Given the description of an element on the screen output the (x, y) to click on. 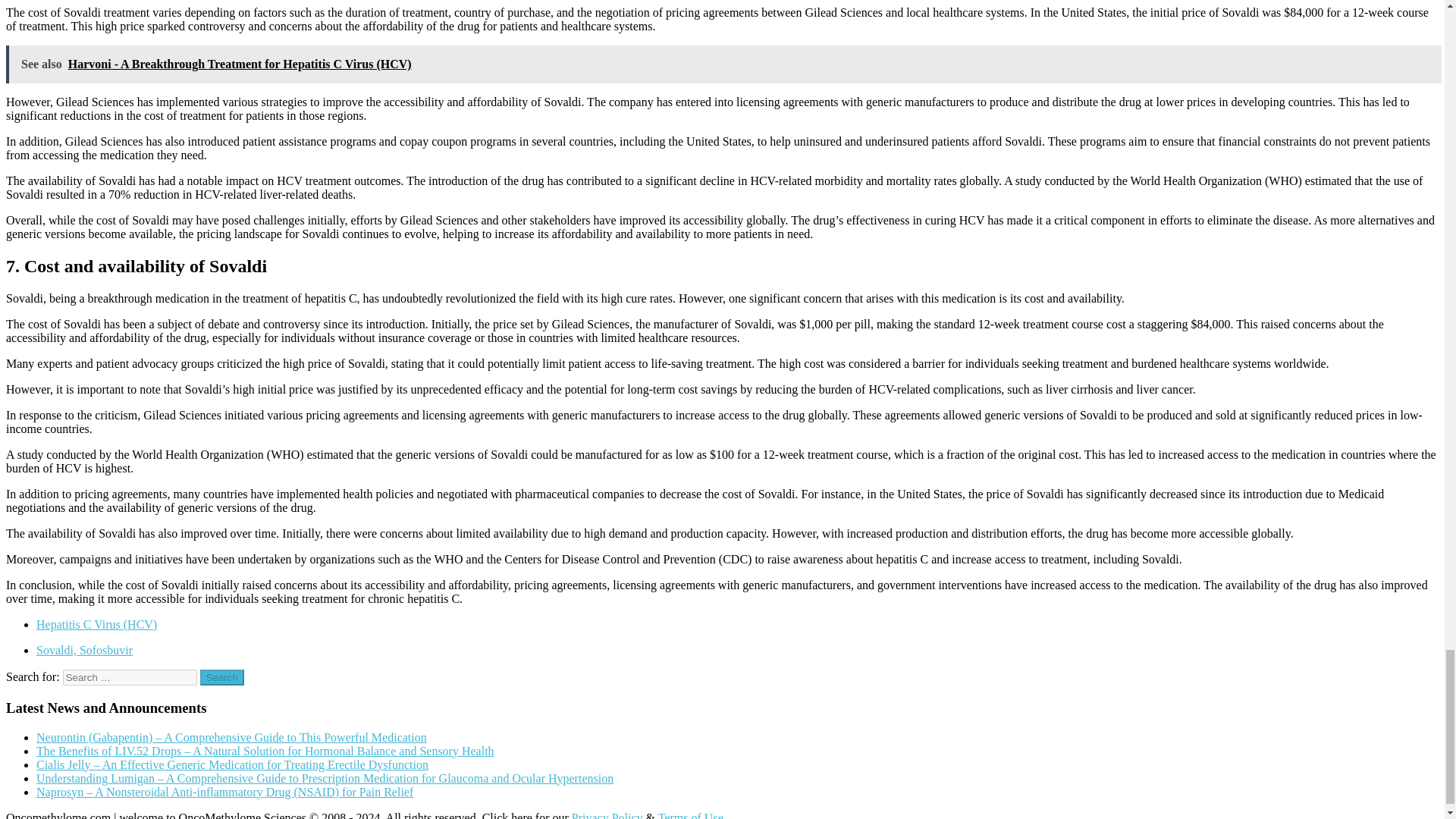
Search (222, 677)
Search (222, 677)
